Given the description of an element on the screen output the (x, y) to click on. 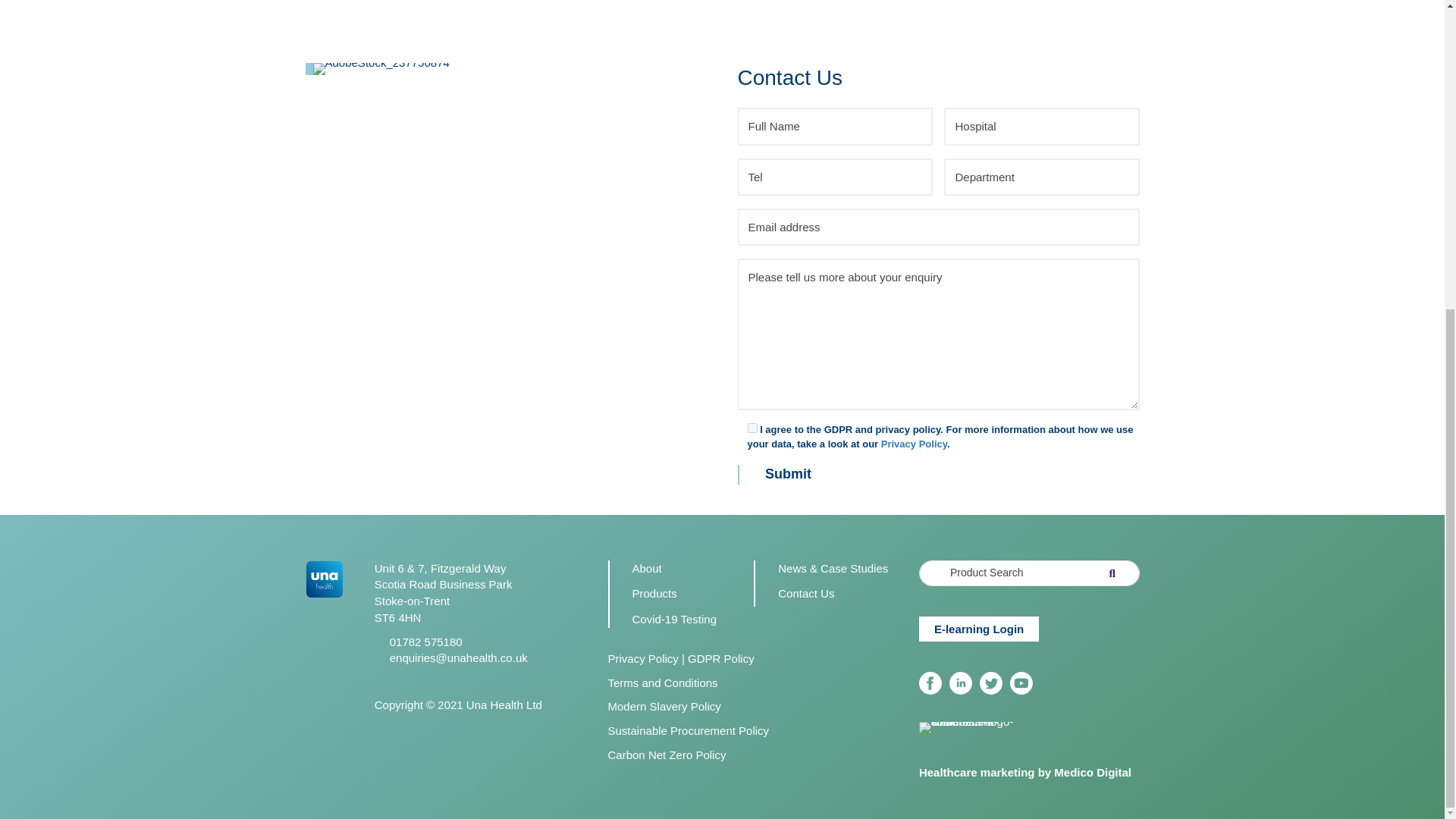
Privacy Policy (643, 658)
Carbon Net Zero Policy (667, 754)
Modern Slavery Policy (664, 706)
01782 575180 (426, 641)
Submit (782, 474)
staffordshire-chambers-of-commerce-logo-white (965, 727)
GDPR Policy (720, 658)
Contact Us (805, 593)
Covid-19 Testing (673, 618)
Terms and Conditions (662, 682)
